Given the description of an element on the screen output the (x, y) to click on. 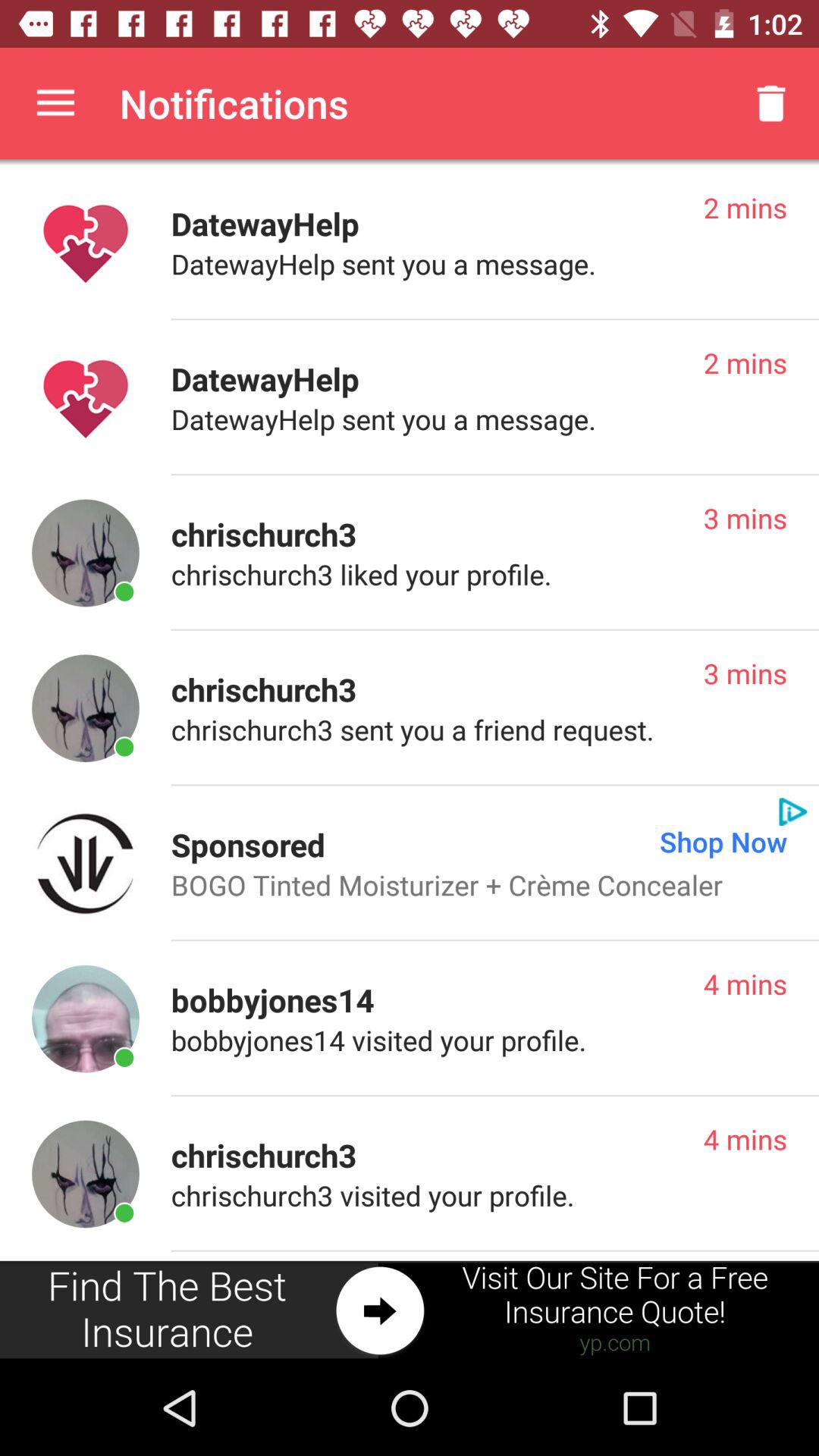
advertisement (409, 1310)
